Given the description of an element on the screen output the (x, y) to click on. 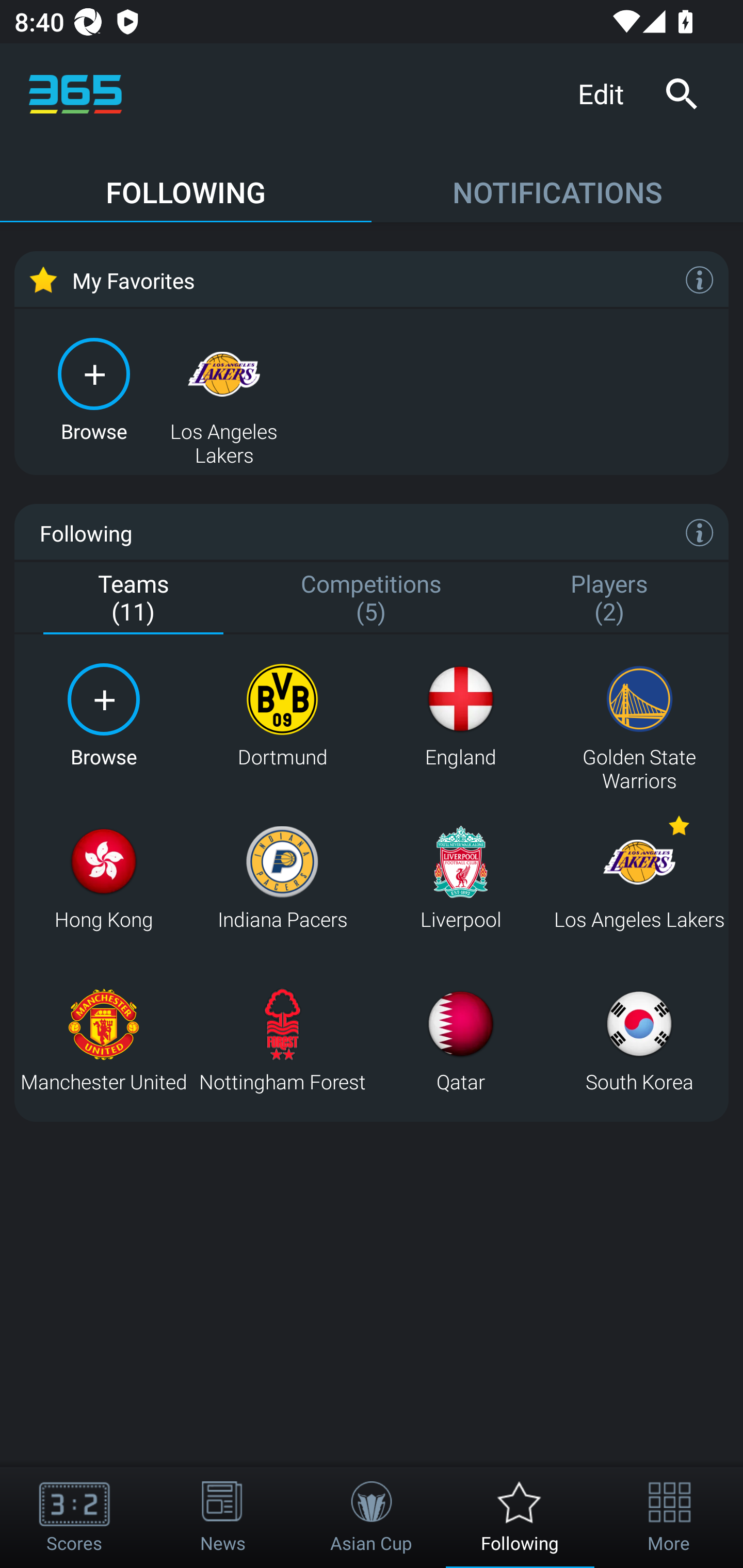
Search (681, 93)
Edit (608, 93)
FOLLOWING (185, 183)
NOTIFICATIONS (557, 183)
Browse (93, 387)
Los Angeles Lakers (224, 387)
Competitions
(5) (371, 598)
Players
(2) (609, 598)
Browse (103, 715)
Dortmund (282, 715)
England (460, 715)
Golden State Warriors (638, 715)
Hong Kong (103, 877)
Indiana Pacers (282, 877)
Liverpool (460, 877)
Los Angeles Lakers (638, 877)
Manchester United (103, 1040)
Nottingham Forest (282, 1040)
Qatar (460, 1040)
South Korea (638, 1040)
Scores (74, 1517)
News (222, 1517)
Asian Cup (371, 1517)
More (668, 1517)
